Given the description of an element on the screen output the (x, y) to click on. 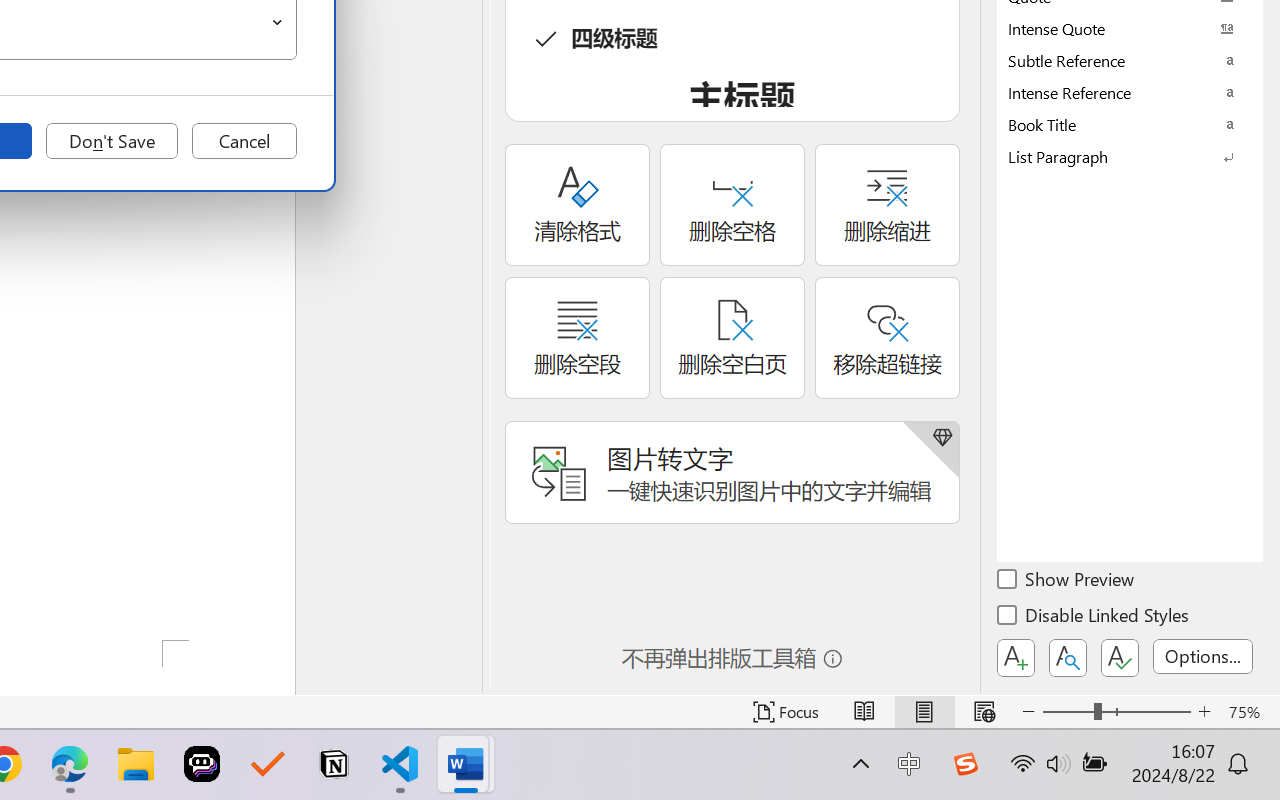
Class: Image (965, 764)
Disable Linked Styles (1094, 618)
Class: NetUIButton (1119, 657)
Cancel (244, 141)
